Given the description of an element on the screen output the (x, y) to click on. 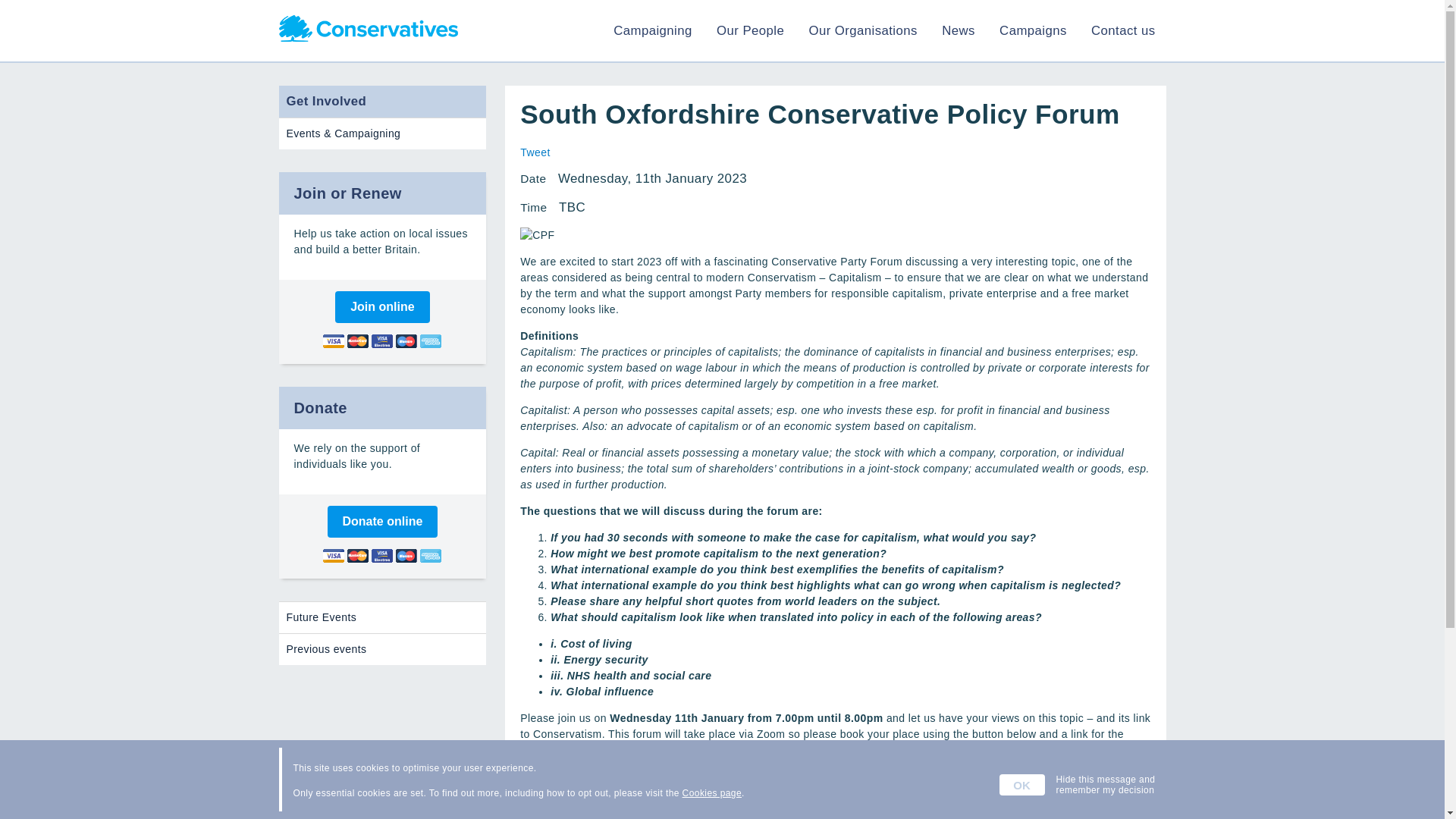
Previous events (382, 649)
Our People  (750, 30)
Our Organisations (862, 30)
News (958, 30)
Cookies page (711, 792)
Our People (750, 30)
Future Events (382, 617)
Tweet (534, 152)
Join online (381, 306)
OK (1021, 784)
Campaigns (1032, 30)
Join online (381, 306)
Donate online (382, 521)
Campaigning (652, 30)
